Given the description of an element on the screen output the (x, y) to click on. 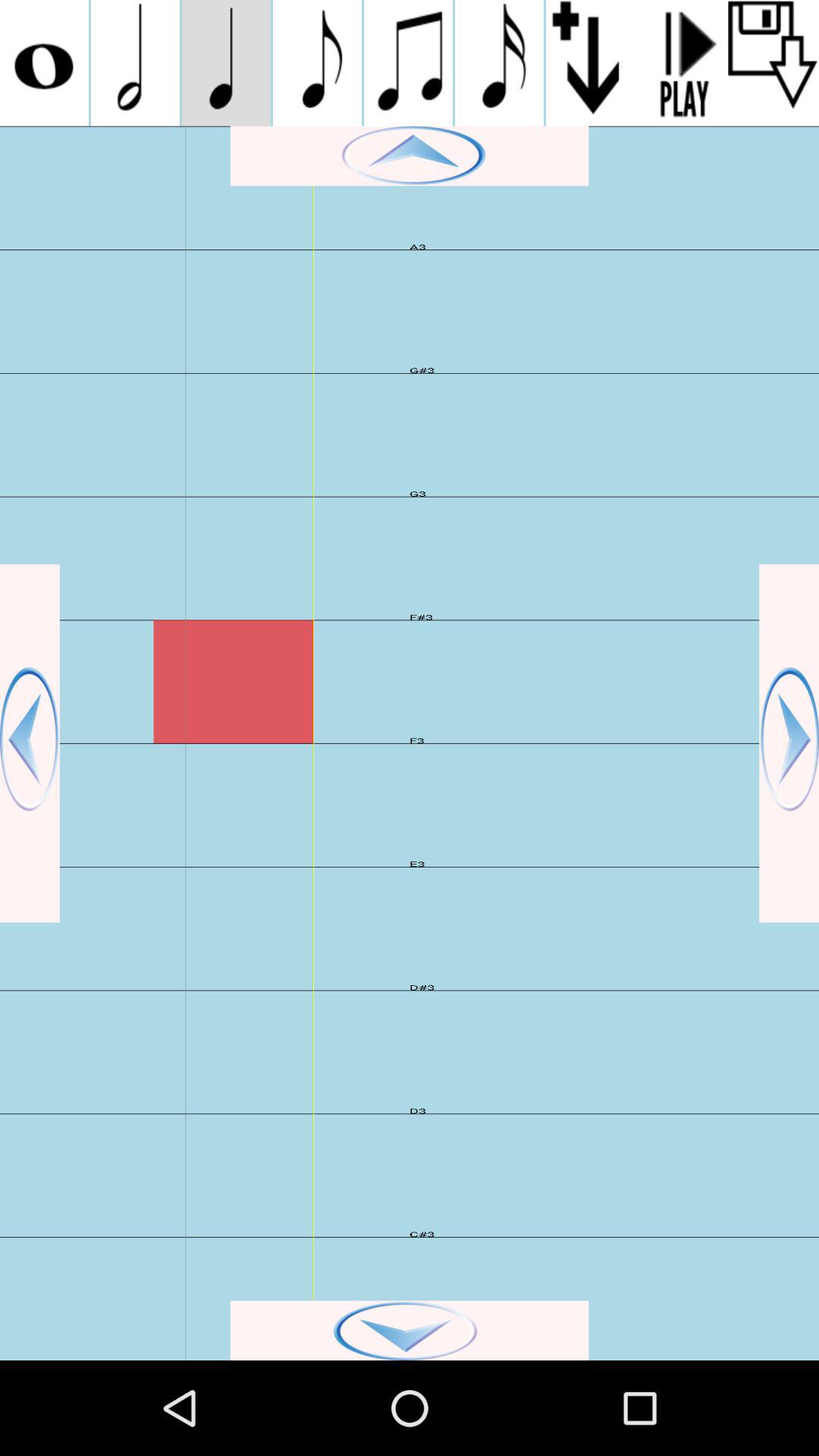
download (773, 63)
